Given the description of an element on the screen output the (x, y) to click on. 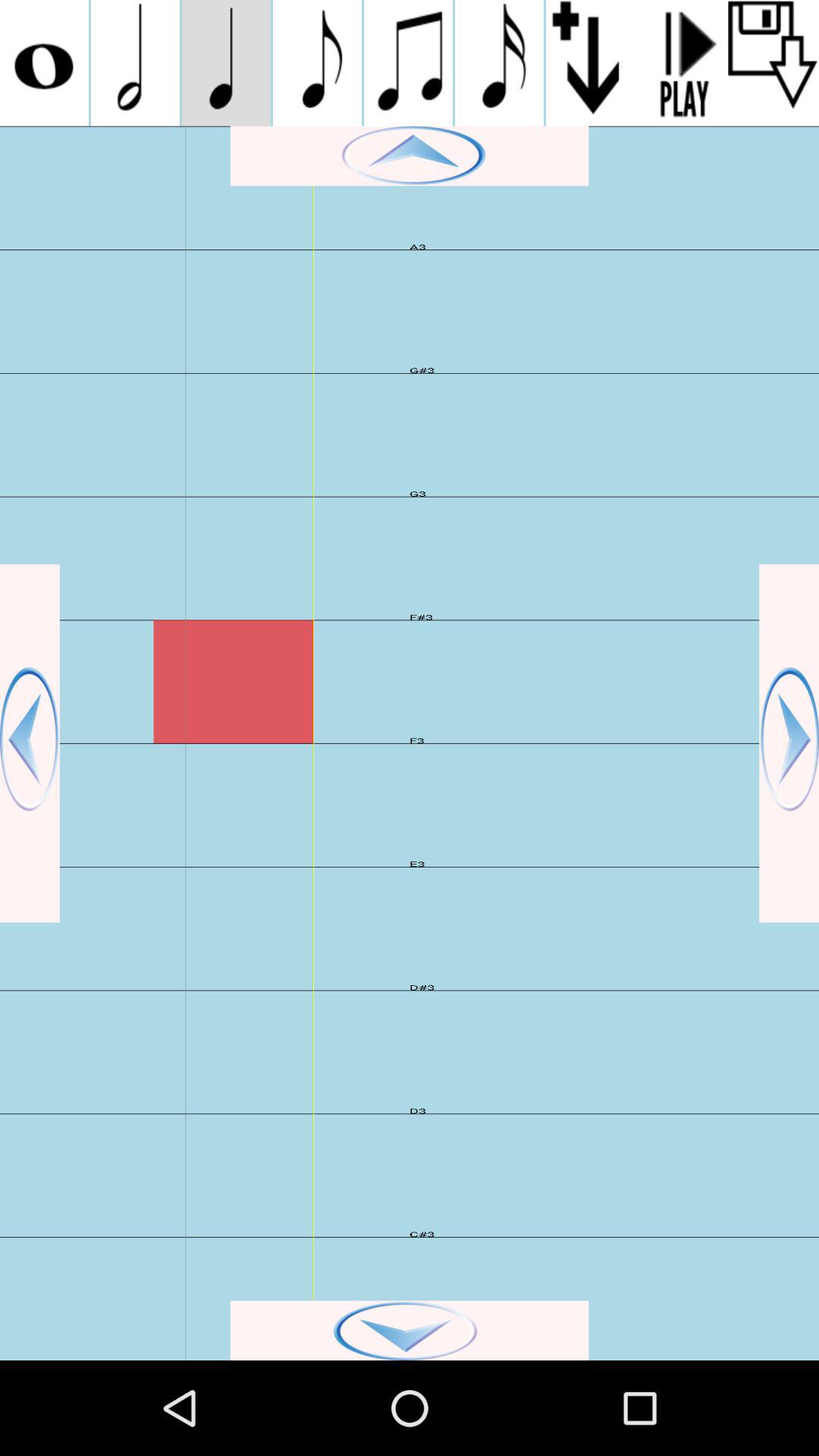
new note (317, 63)
